Given the description of an element on the screen output the (x, y) to click on. 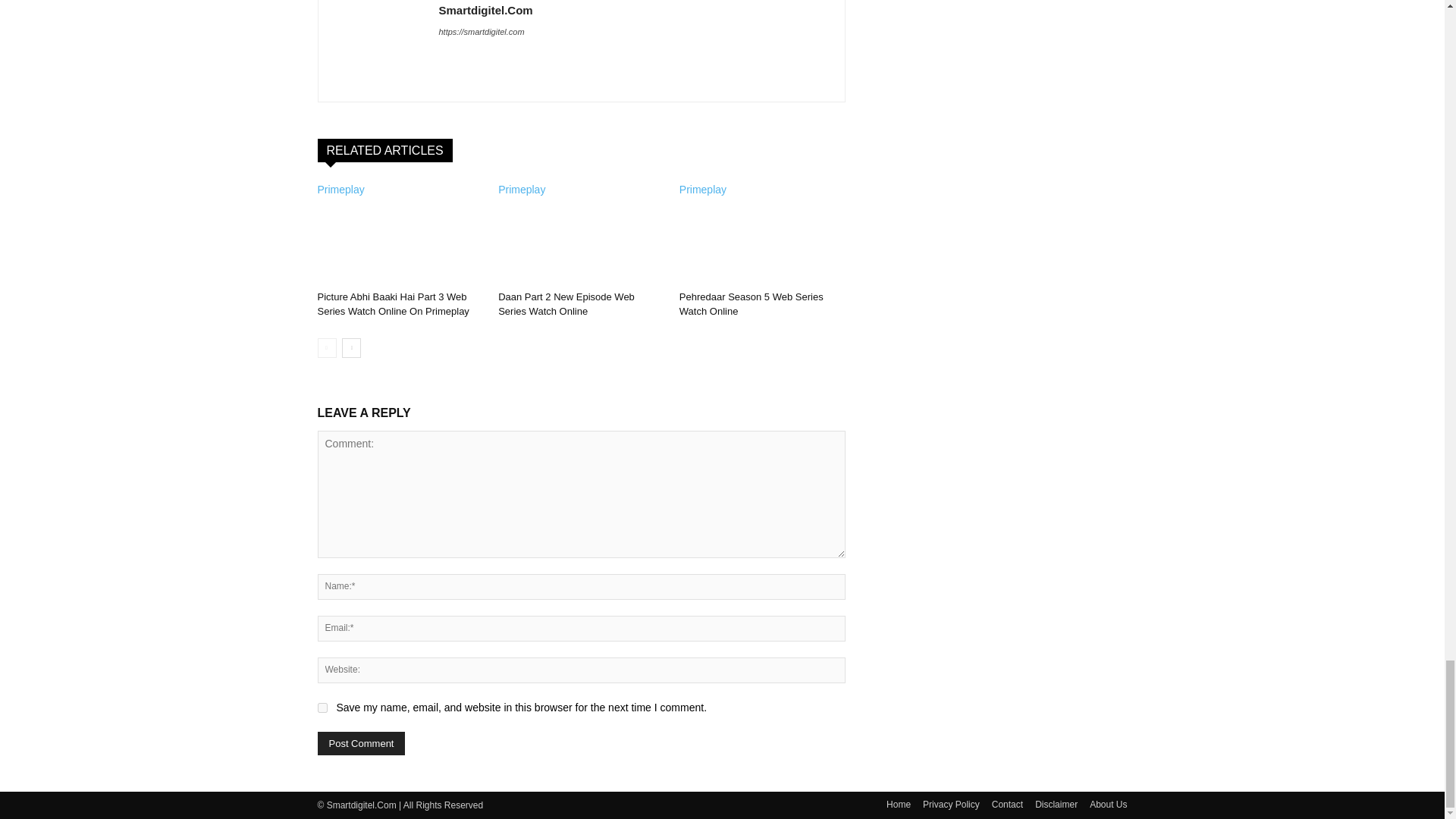
yes (321, 707)
Post Comment (360, 743)
